Given the description of an element on the screen output the (x, y) to click on. 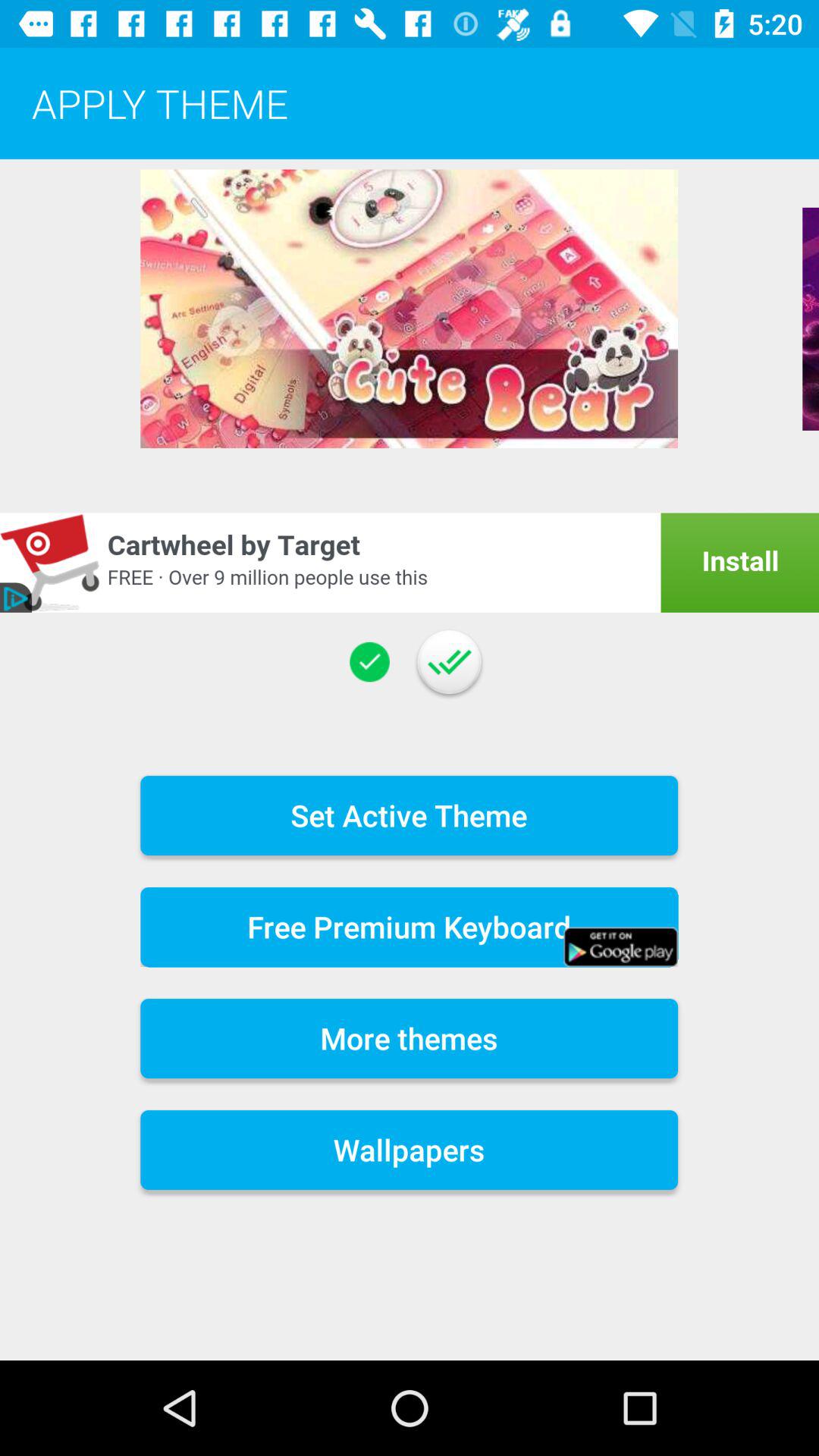
open the icon above more themes item (408, 926)
